Given the description of an element on the screen output the (x, y) to click on. 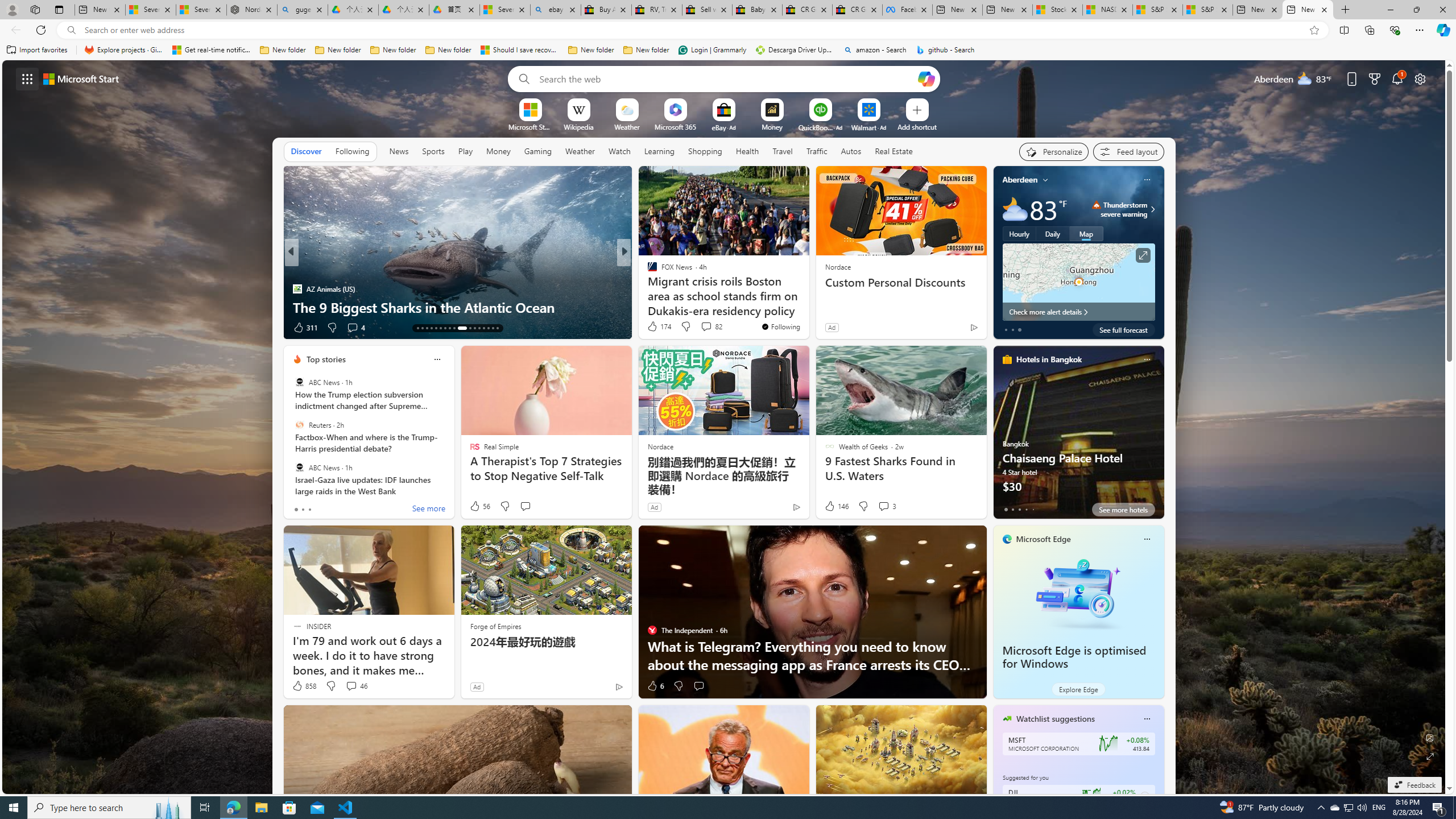
View comments 4 Comment (352, 327)
tab-0 (1005, 509)
Address and search bar (692, 29)
Traffic (816, 151)
Sports (432, 151)
Gaming (537, 151)
See more (428, 509)
858 Like (303, 685)
Following (352, 151)
Feed settings (1128, 151)
